Given the description of an element on the screen output the (x, y) to click on. 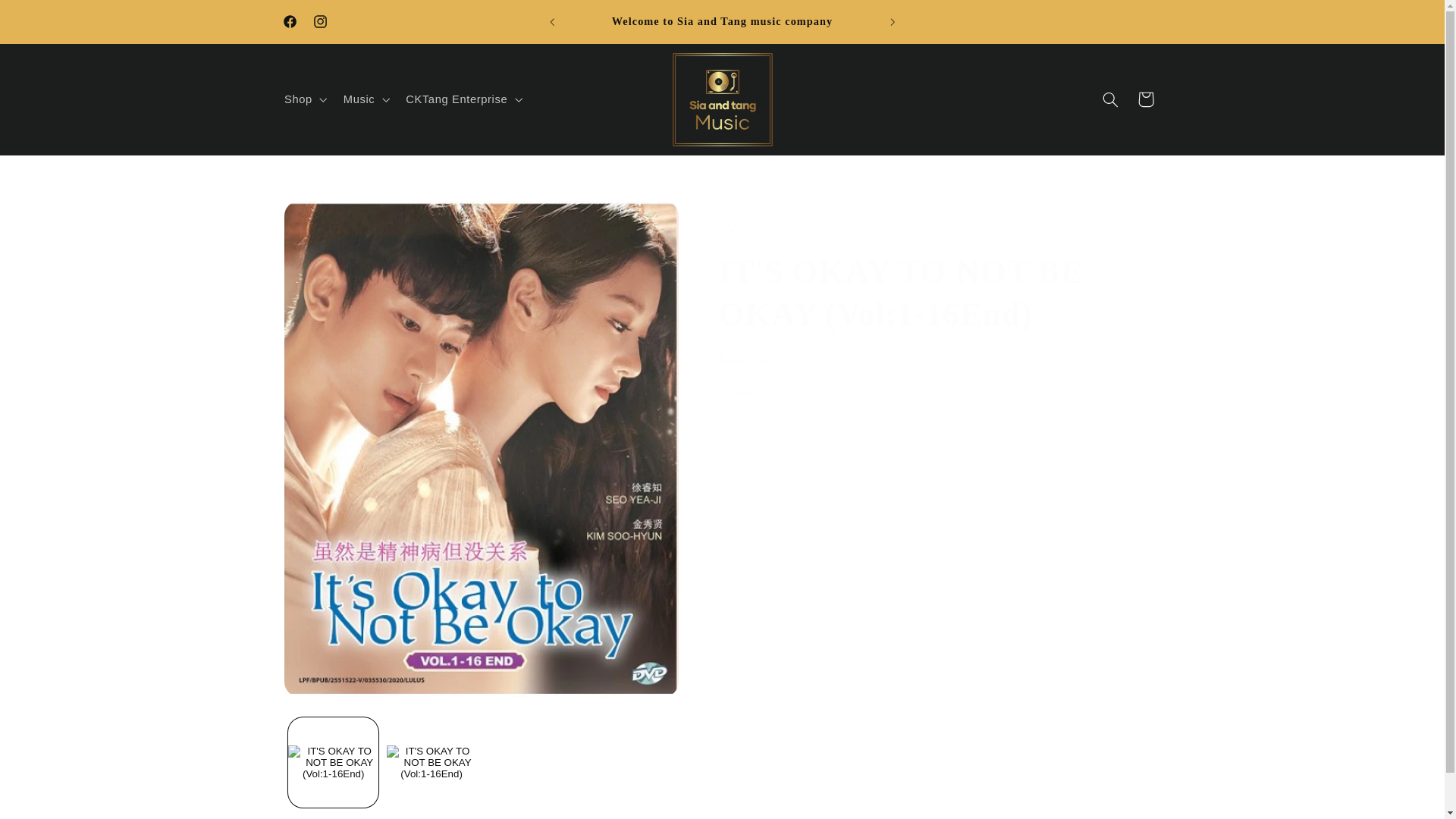
Skip to content (48, 18)
Instagram (319, 21)
1 (771, 424)
Facebook (289, 21)
